Given the description of an element on the screen output the (x, y) to click on. 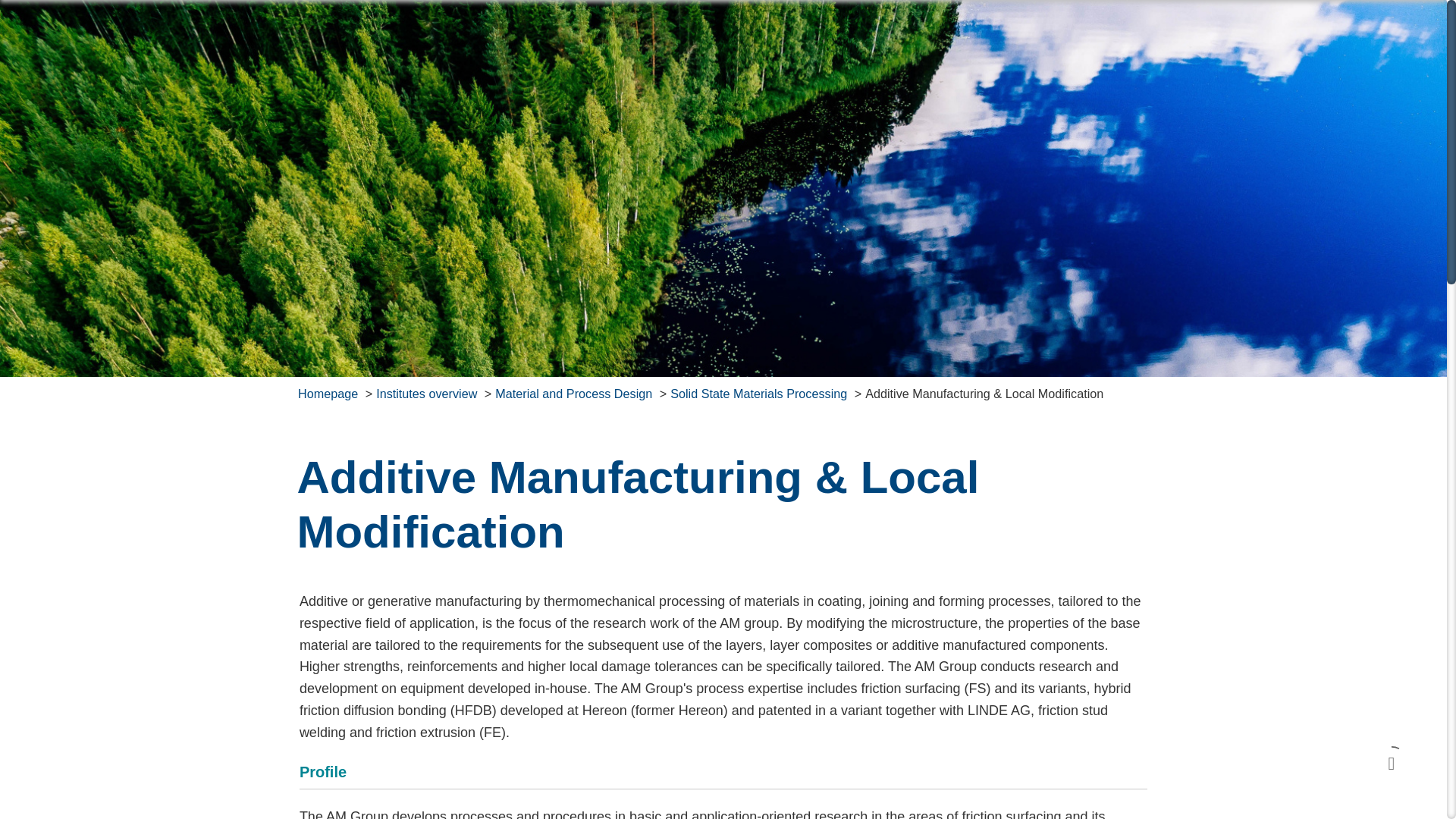
Click to scroll to top (1391, 763)
